Given the description of an element on the screen output the (x, y) to click on. 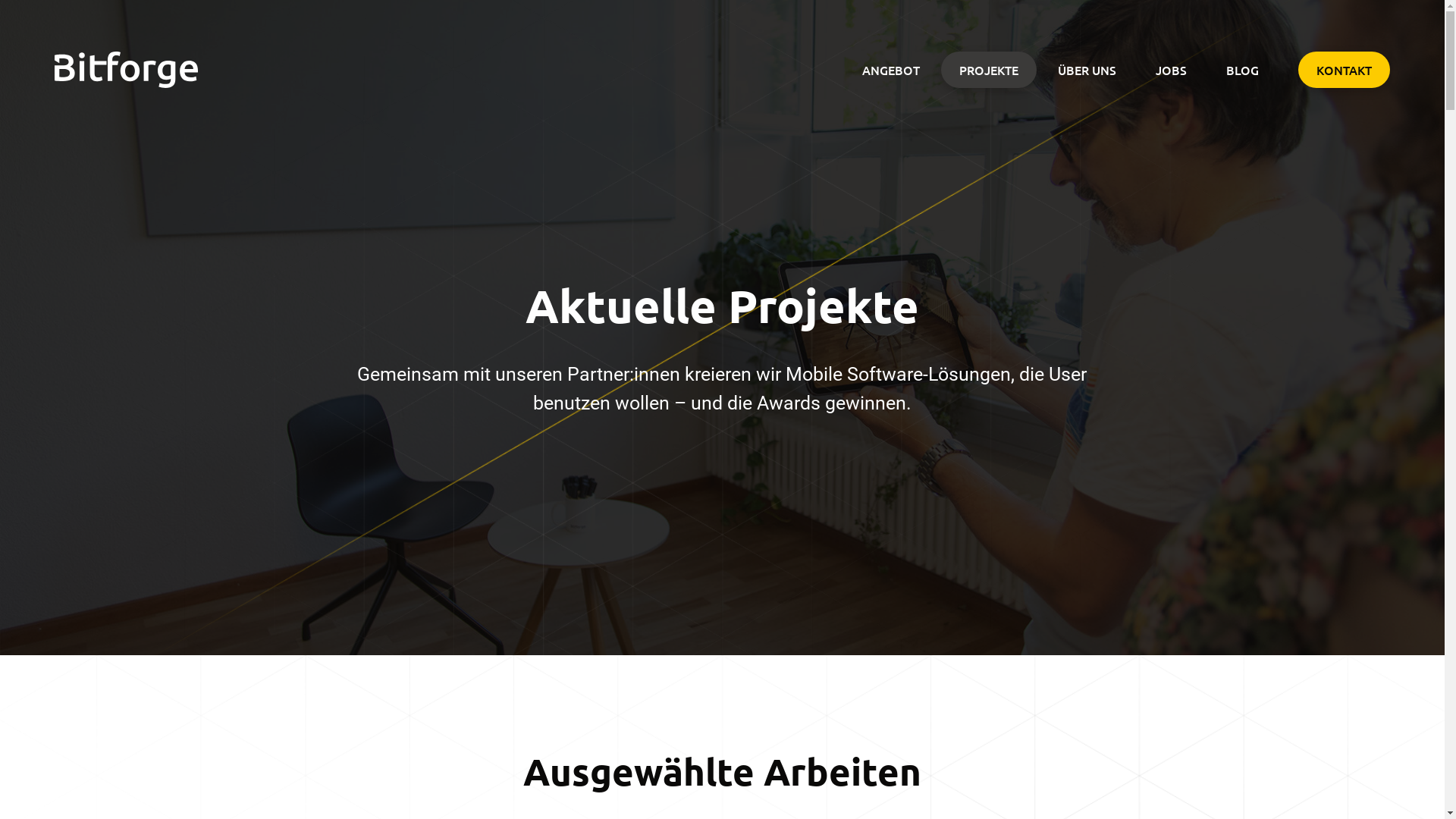
BLOG Element type: text (1242, 69)
ANGEBOT Element type: text (891, 69)
PROJEKTE Element type: text (988, 69)
JOBS Element type: text (1170, 69)
KONTAKT Element type: text (1344, 69)
